Given the description of an element on the screen output the (x, y) to click on. 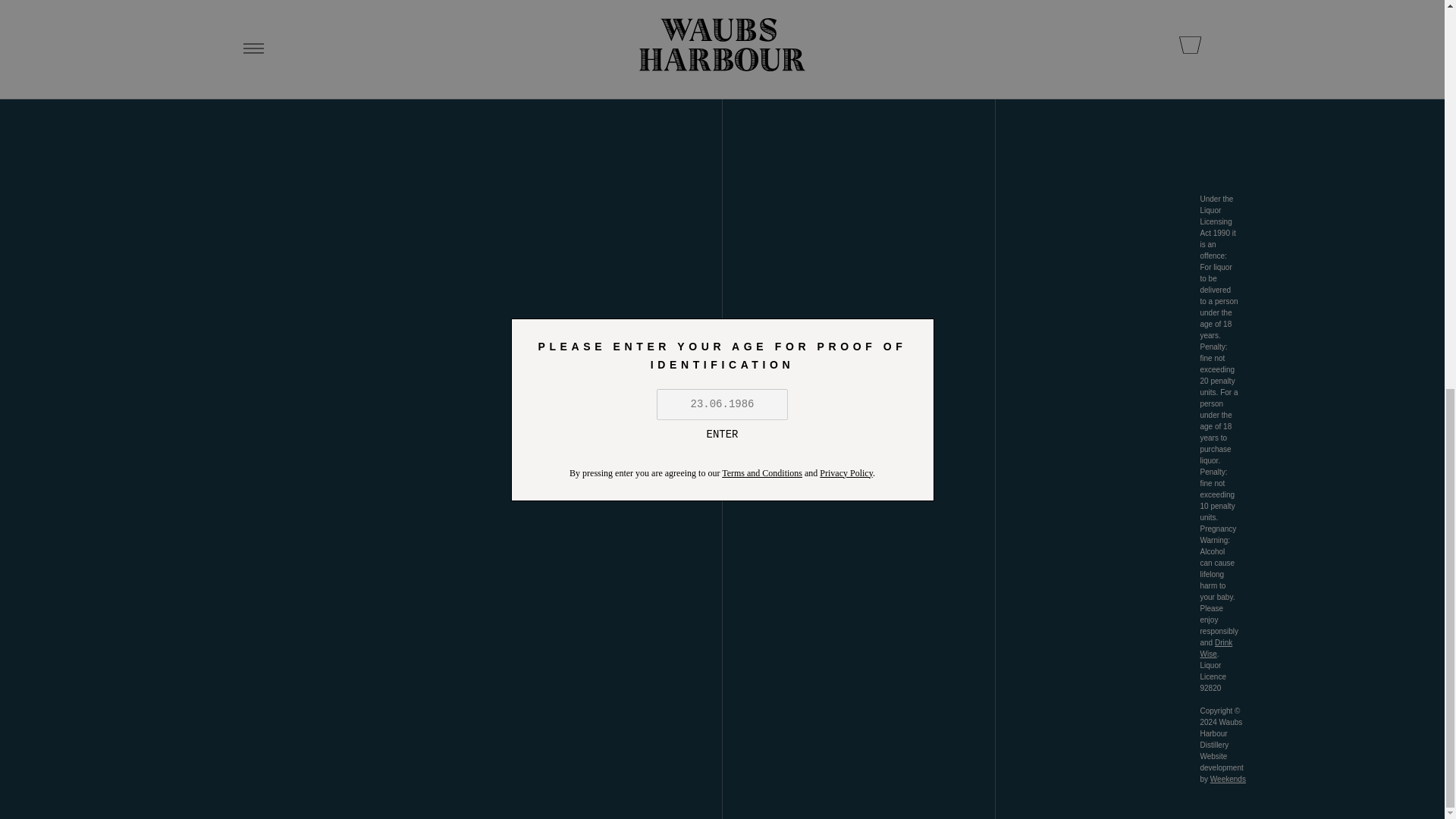
Drink Wise (1215, 648)
TERMS (790, 47)
PRIVACY (926, 47)
SHIPPING (790, 15)
Weekends (1227, 778)
JOIN NOW (307, 53)
CONTACT (926, 15)
